Given the description of an element on the screen output the (x, y) to click on. 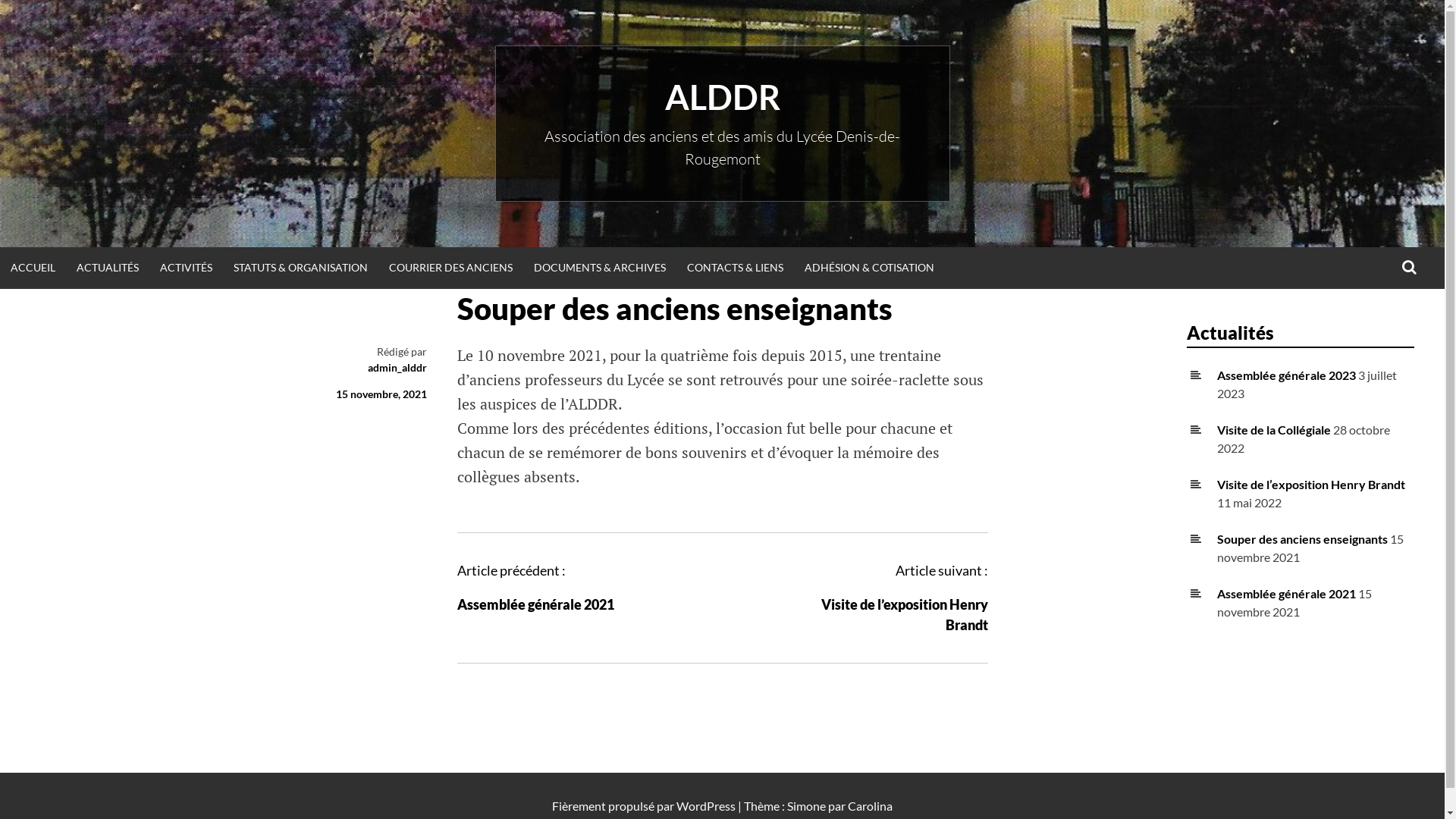
WordPress Element type: text (705, 805)
15 novembre, 2021 Element type: text (380, 393)
Carolina Element type: text (869, 805)
ALDDR Element type: text (721, 96)
Souper des anciens enseignants Element type: text (1302, 538)
DOCUMENTS & ARCHIVES Element type: text (599, 267)
CONTACTS & LIENS Element type: text (734, 267)
RECHERCHE Element type: text (1408, 267)
COURRIER DES ANCIENS Element type: text (450, 267)
admin_alddr Element type: text (396, 366)
ACCUEIL Element type: text (32, 267)
STATUTS & ORGANISATION Element type: text (300, 267)
